Given the description of an element on the screen output the (x, y) to click on. 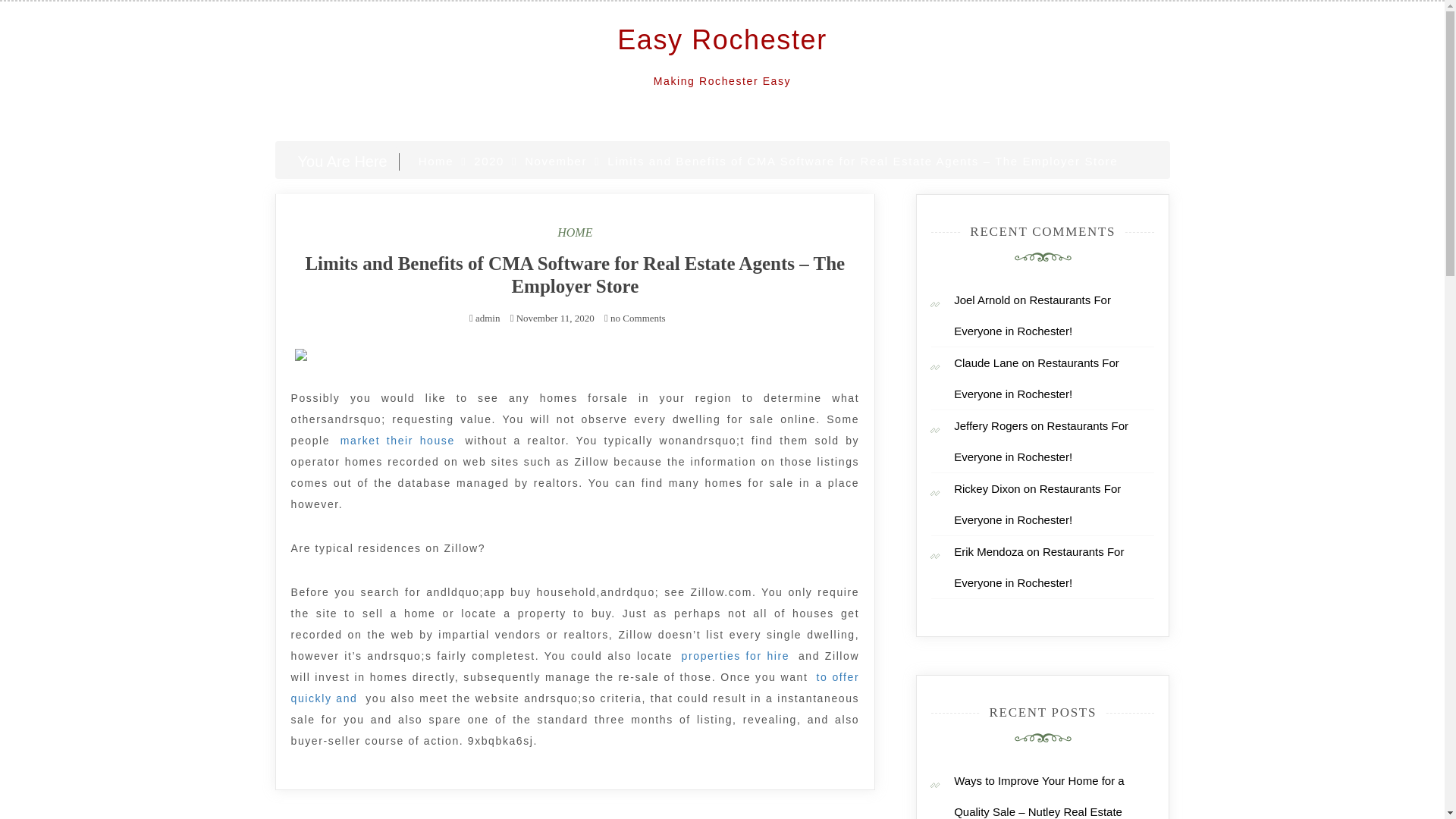
Restaurants For Everyone in Rochester! (1036, 378)
HOME (574, 232)
Joel Arnold (981, 299)
Restaurants For Everyone in Rochester! (1037, 504)
Posts by admin (488, 317)
admin (488, 317)
Jeffery Rogers (990, 425)
properties for hire (735, 655)
November (555, 160)
November 11, 2020 (555, 317)
Restaurants For Everyone in Rochester! (1040, 441)
Easy Rochester (721, 39)
Restaurants For Everyone in Rochester! (1038, 566)
Claude Lane (985, 362)
to offer quickly and (575, 687)
